Given the description of an element on the screen output the (x, y) to click on. 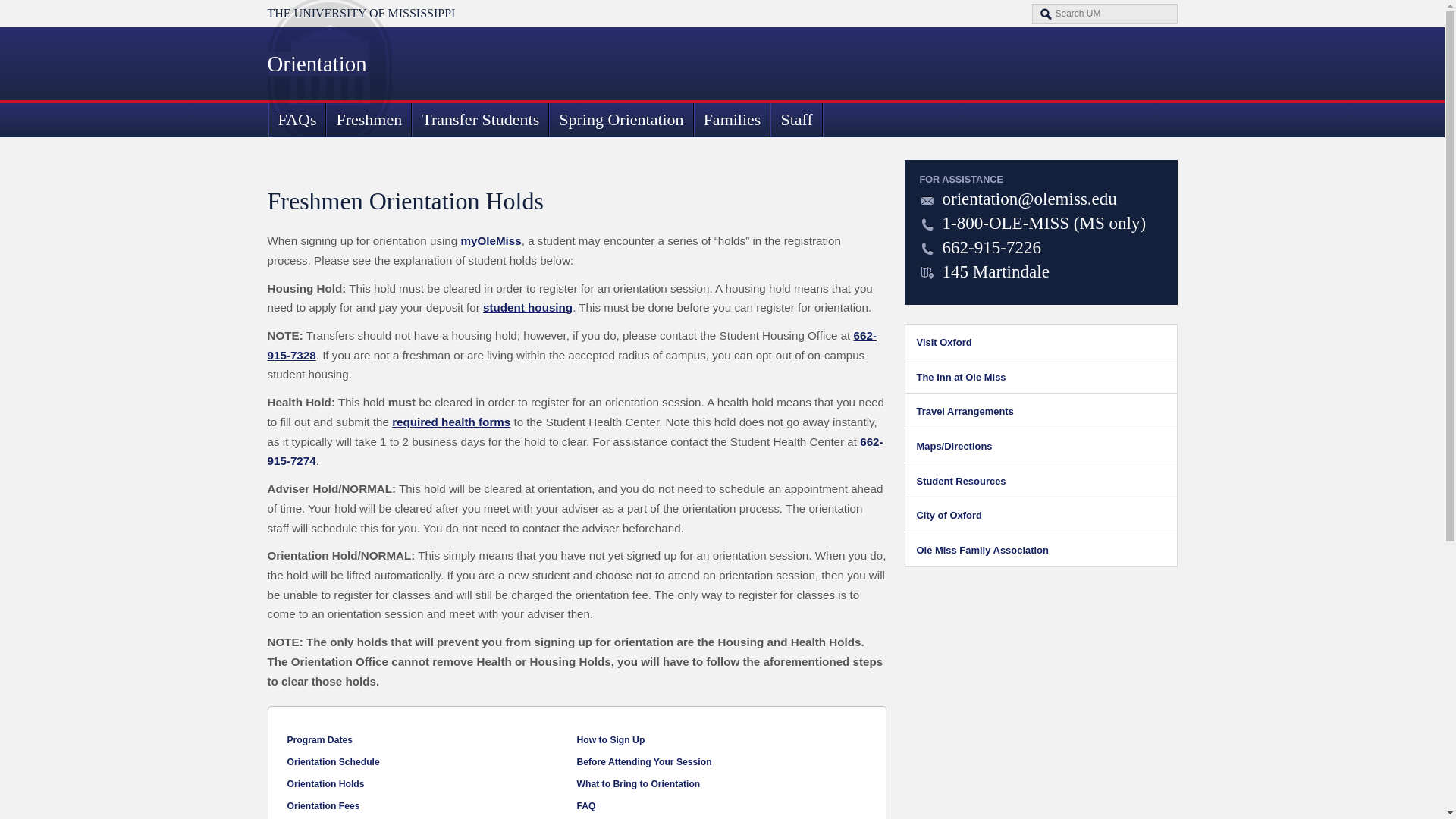
myOleMiss (490, 240)
Orientation (316, 63)
Freshmen (369, 119)
student housing (527, 307)
662-915-7328 (571, 345)
Spring Orientation (620, 119)
Staff (796, 119)
Transfer Students (480, 119)
Families (732, 119)
FFM-Program Dates (319, 739)
FAQs (296, 119)
THE UNIVERSITY OF MISSISSIPPI (360, 12)
